Given the description of an element on the screen output the (x, y) to click on. 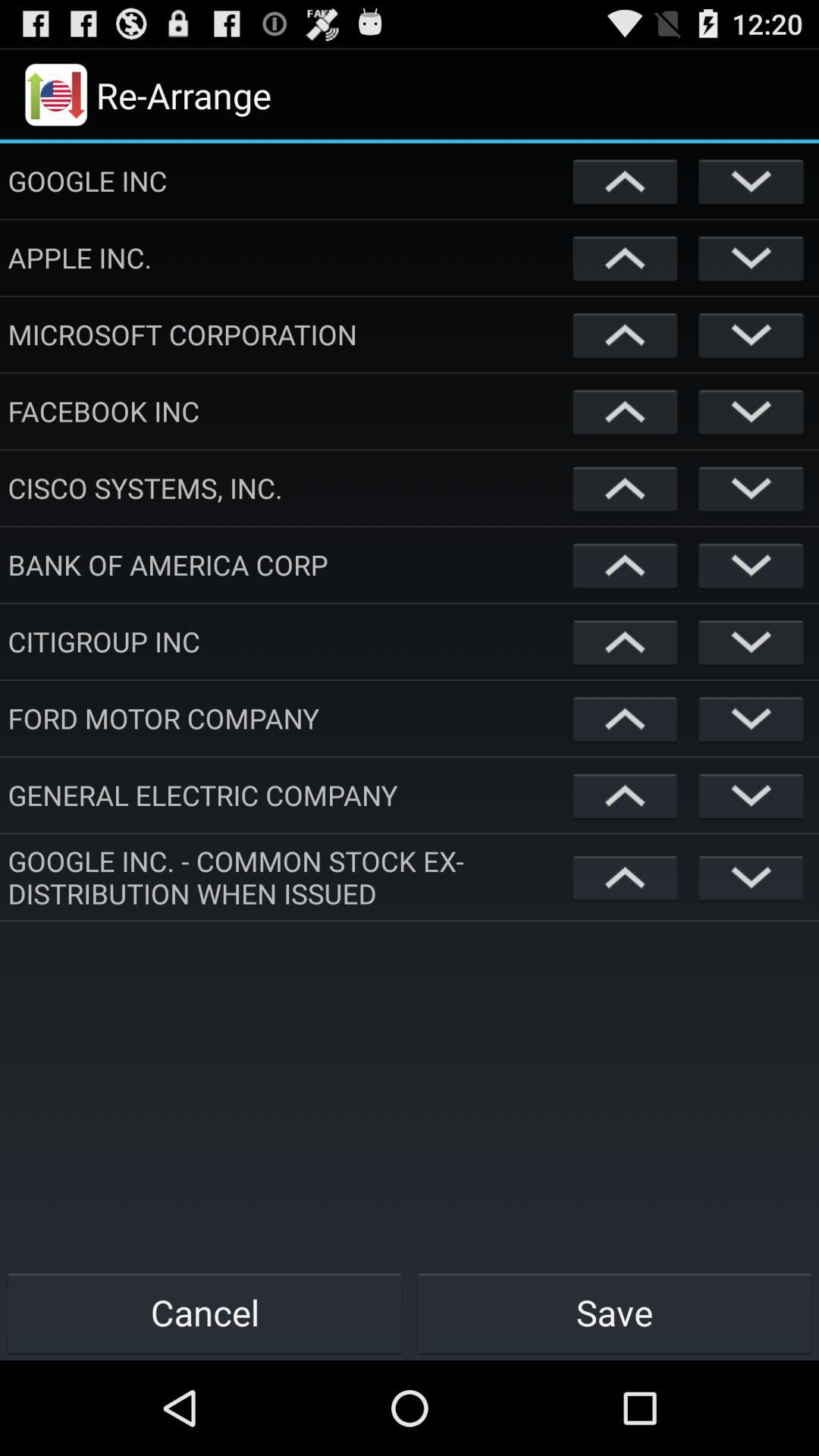
tap the save icon (614, 1312)
